Given the description of an element on the screen output the (x, y) to click on. 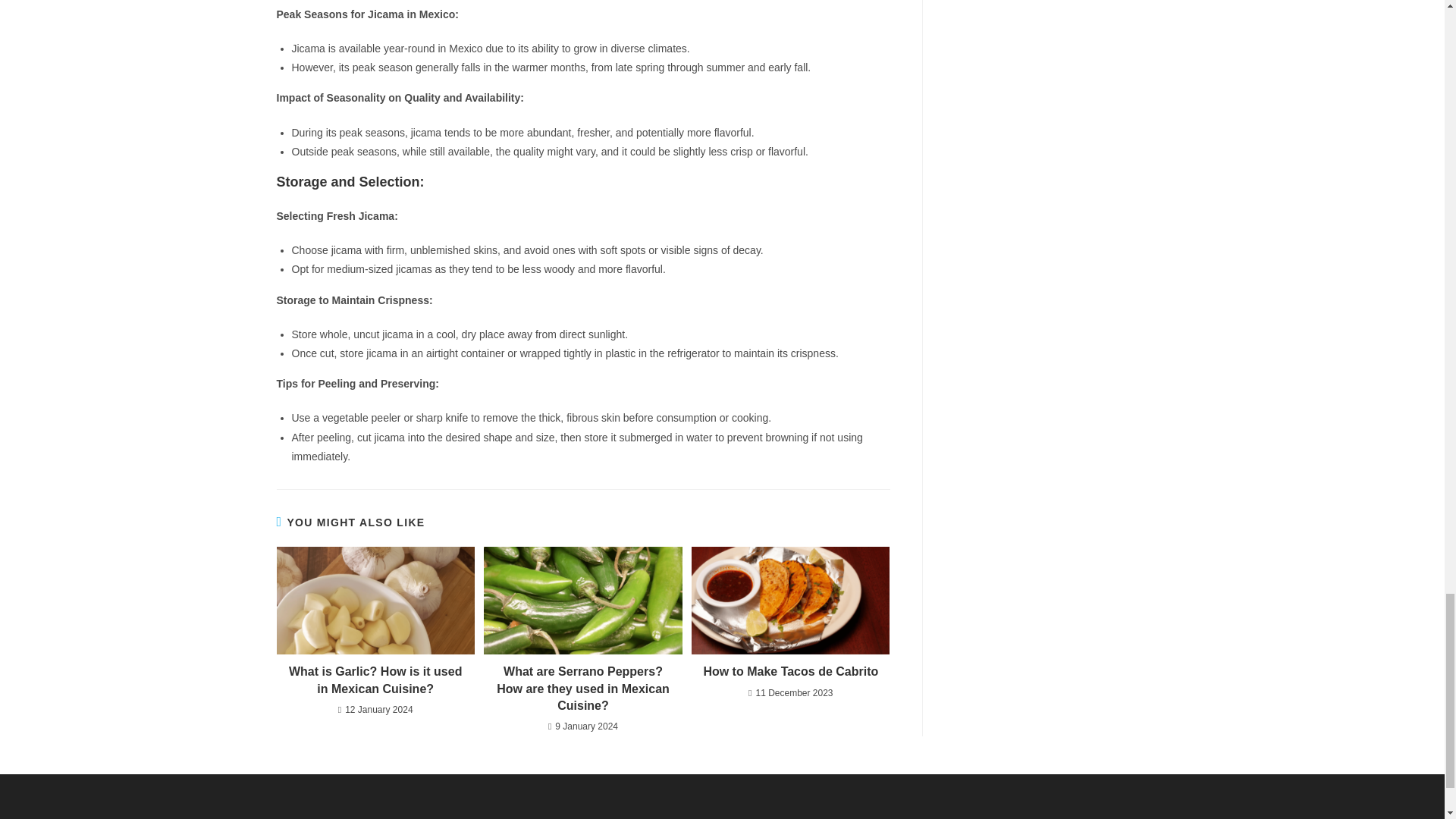
What is Garlic? How is it used in Mexican Cuisine? (374, 680)
How to Make Tacos de Cabrito (790, 671)
